Given the description of an element on the screen output the (x, y) to click on. 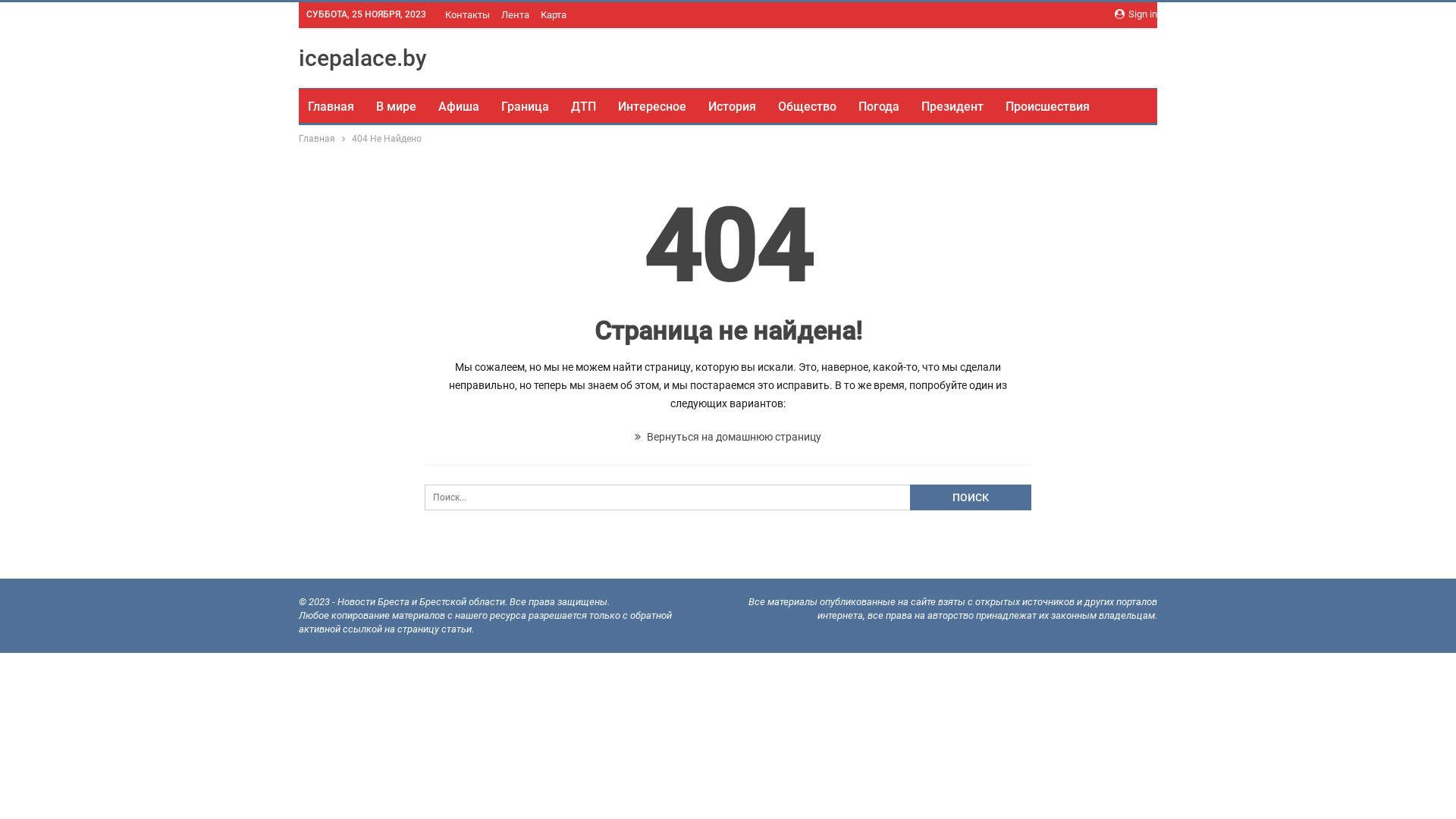
Sign in Element type: text (1135, 14)
icepalace.by Element type: text (362, 57)
